Given the description of an element on the screen output the (x, y) to click on. 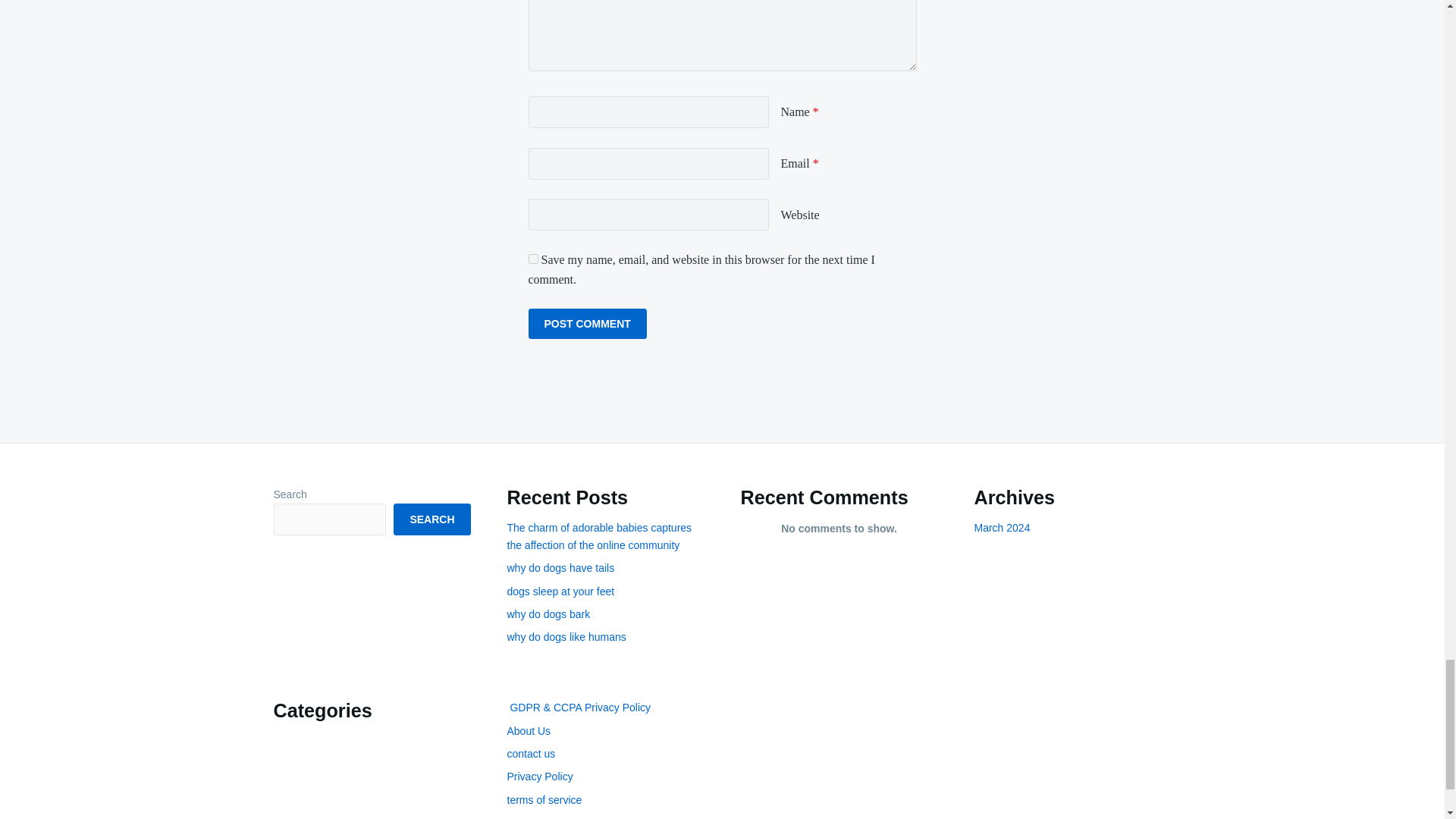
SEARCH (431, 519)
why do dogs like humans (566, 636)
About Us (528, 730)
Privacy Policy (539, 776)
Post Comment (586, 323)
terms of service (543, 799)
yes (532, 258)
March 2024 (1001, 527)
Post Comment (586, 323)
why do dogs bark (547, 613)
why do dogs have tails (560, 567)
dogs sleep at your feet (560, 591)
contact us (530, 753)
